Given the description of an element on the screen output the (x, y) to click on. 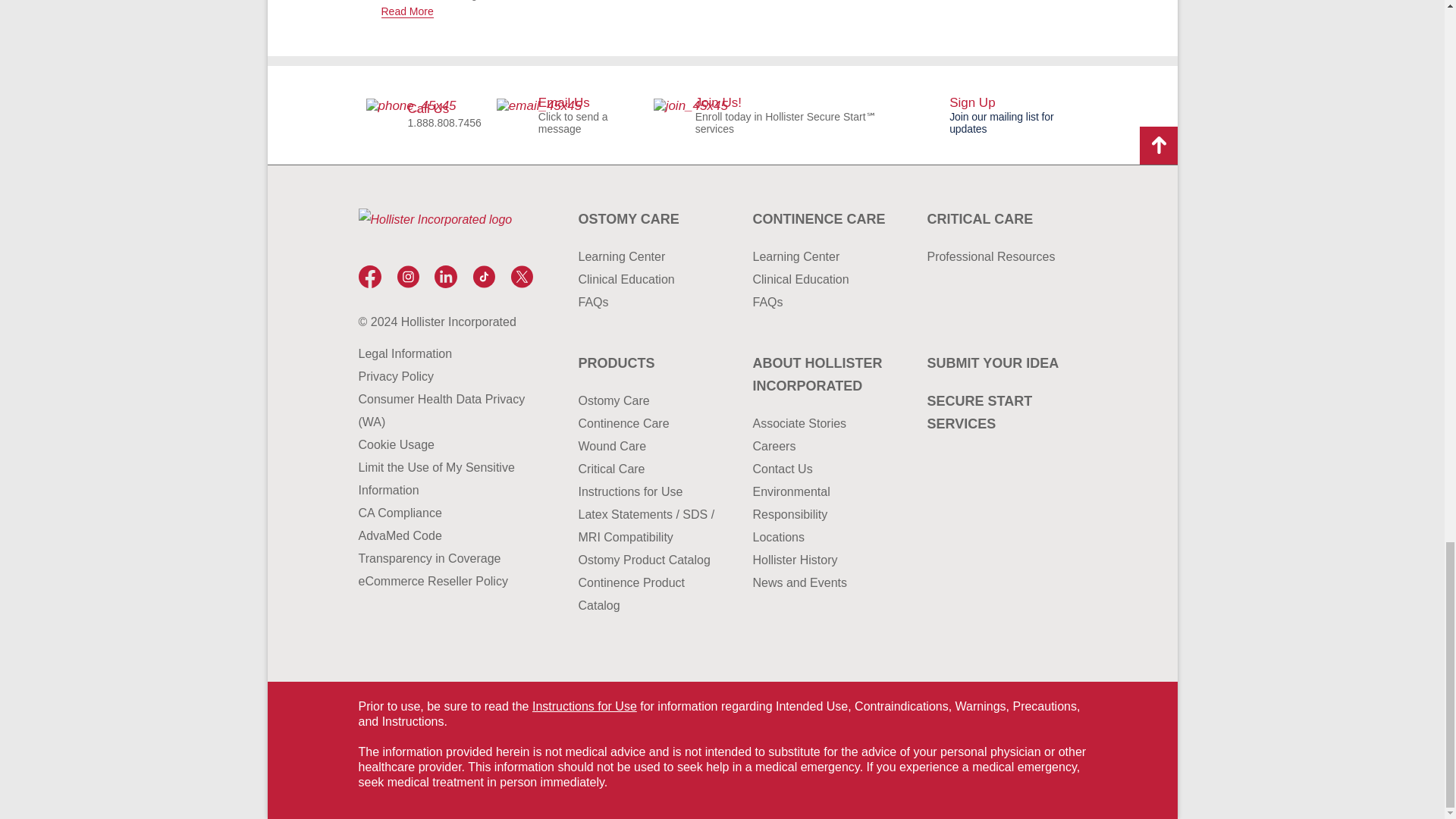
Critical Care (998, 219)
Hollister History (824, 559)
Call us (422, 115)
Ostomy Learning Center (650, 256)
Privacy Notice (441, 376)
Continence Care (824, 219)
AdvaMed Code (441, 535)
Continence Care Learning Center (824, 256)
Professional Resources (998, 256)
Ostomy Care (650, 219)
